Given the description of an element on the screen output the (x, y) to click on. 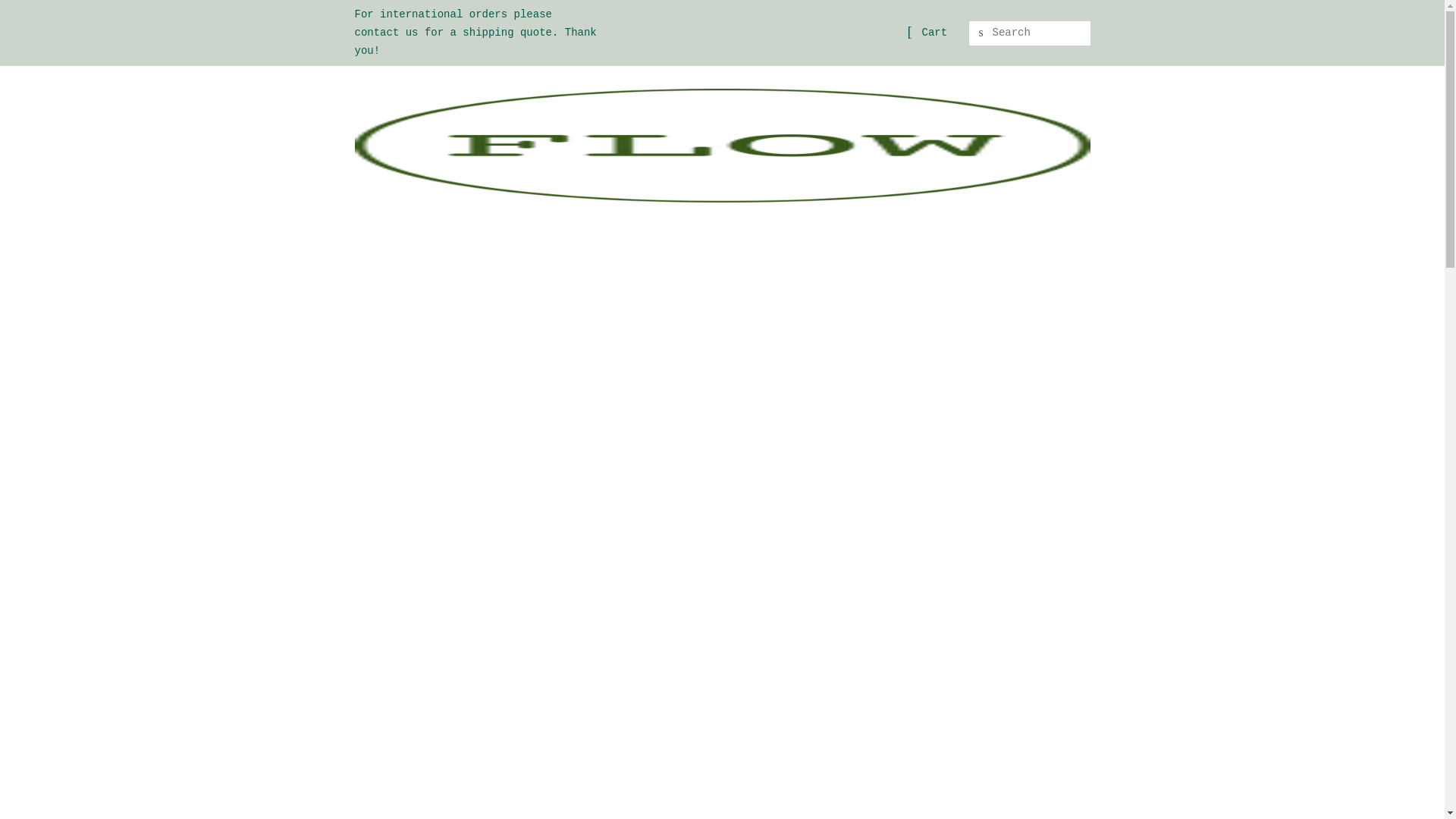
Search (980, 33)
Cart (934, 33)
